Given the description of an element on the screen output the (x, y) to click on. 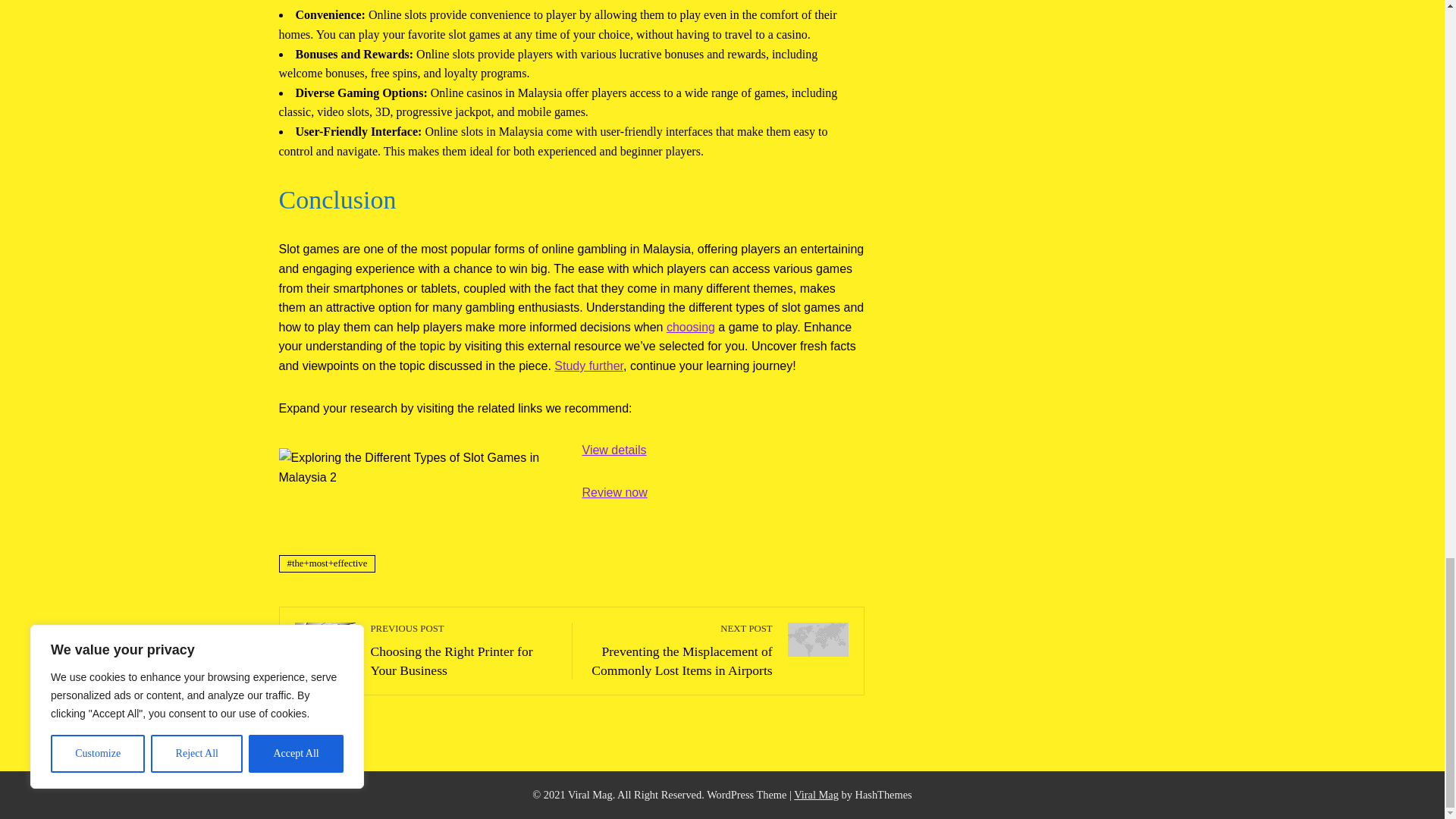
Study further (588, 365)
choosing (690, 327)
View details (614, 449)
Review now (462, 650)
Download Viral News (614, 492)
